Given the description of an element on the screen output the (x, y) to click on. 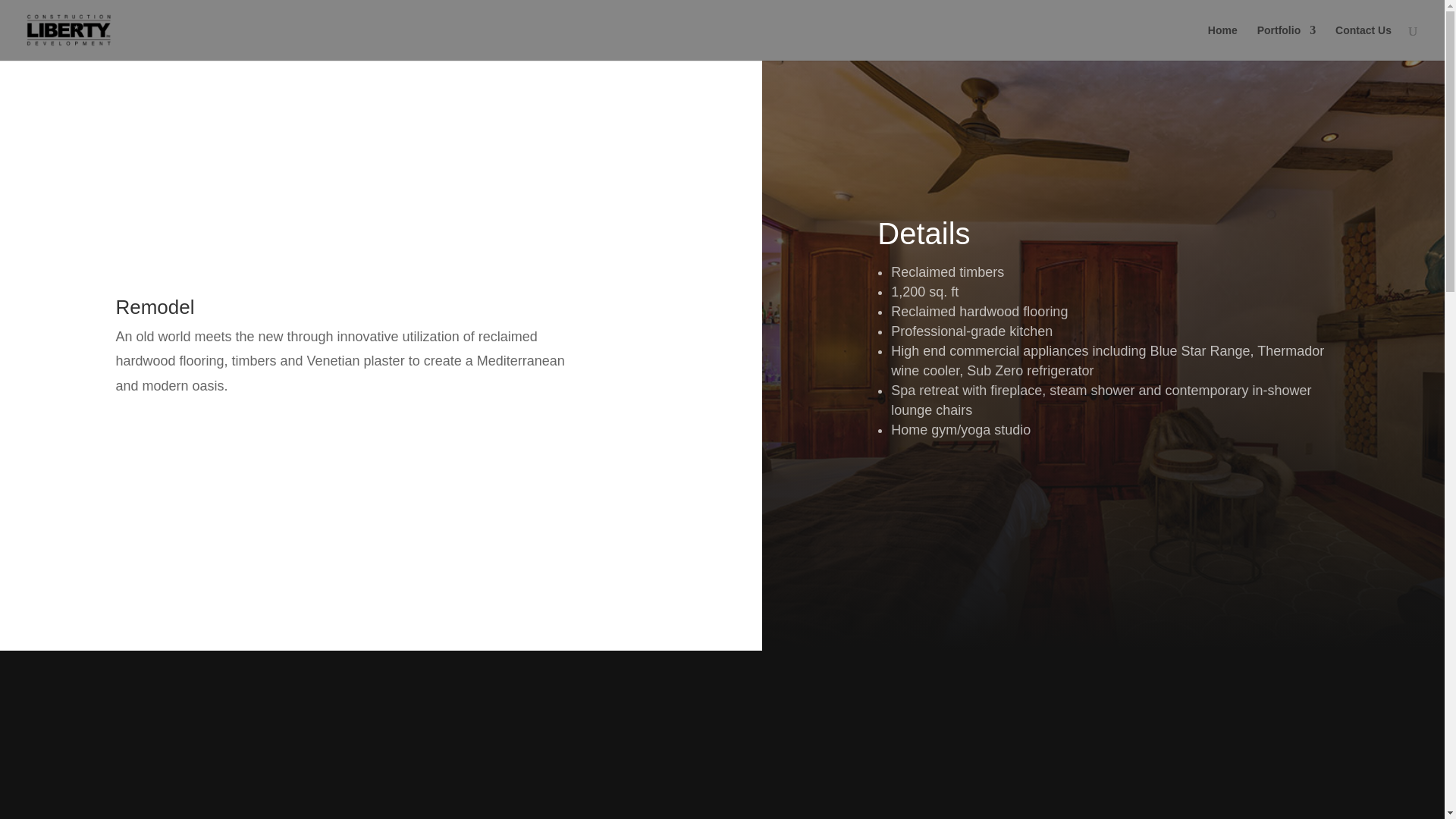
Contact Us (1363, 42)
Portfolio (1286, 42)
Home (1222, 42)
